Given the description of an element on the screen output the (x, y) to click on. 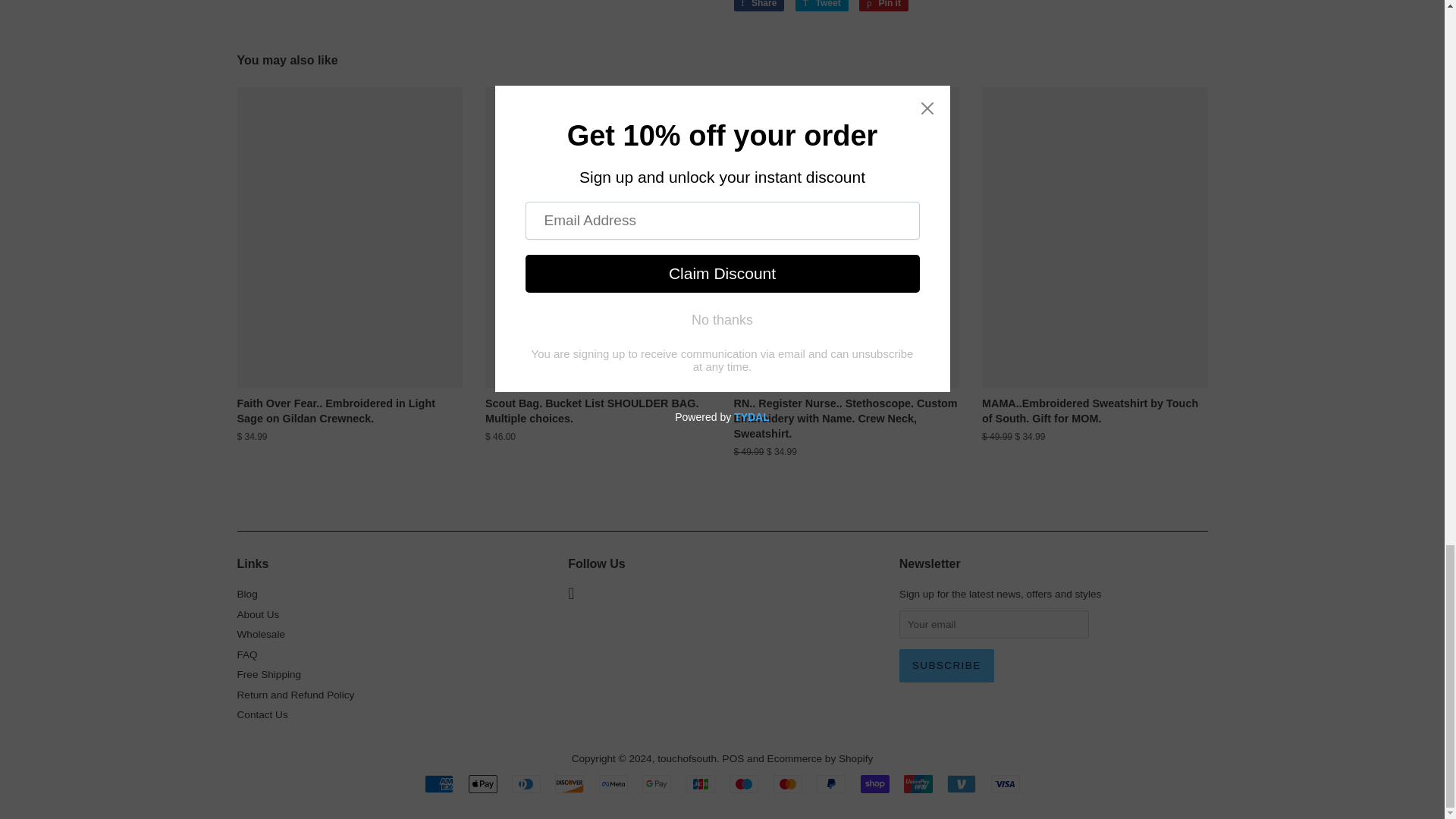
Diners Club (526, 783)
Pin on Pinterest (883, 5)
Subscribe (946, 665)
Share on Facebook (758, 5)
JCB (699, 783)
Apple Pay (482, 783)
Discover (568, 783)
Venmo (961, 783)
American Express (438, 783)
PayPal (830, 783)
Maestro (743, 783)
Union Pay (918, 783)
Mastercard (787, 783)
Google Pay (656, 783)
Meta Pay (612, 783)
